Given the description of an element on the screen output the (x, y) to click on. 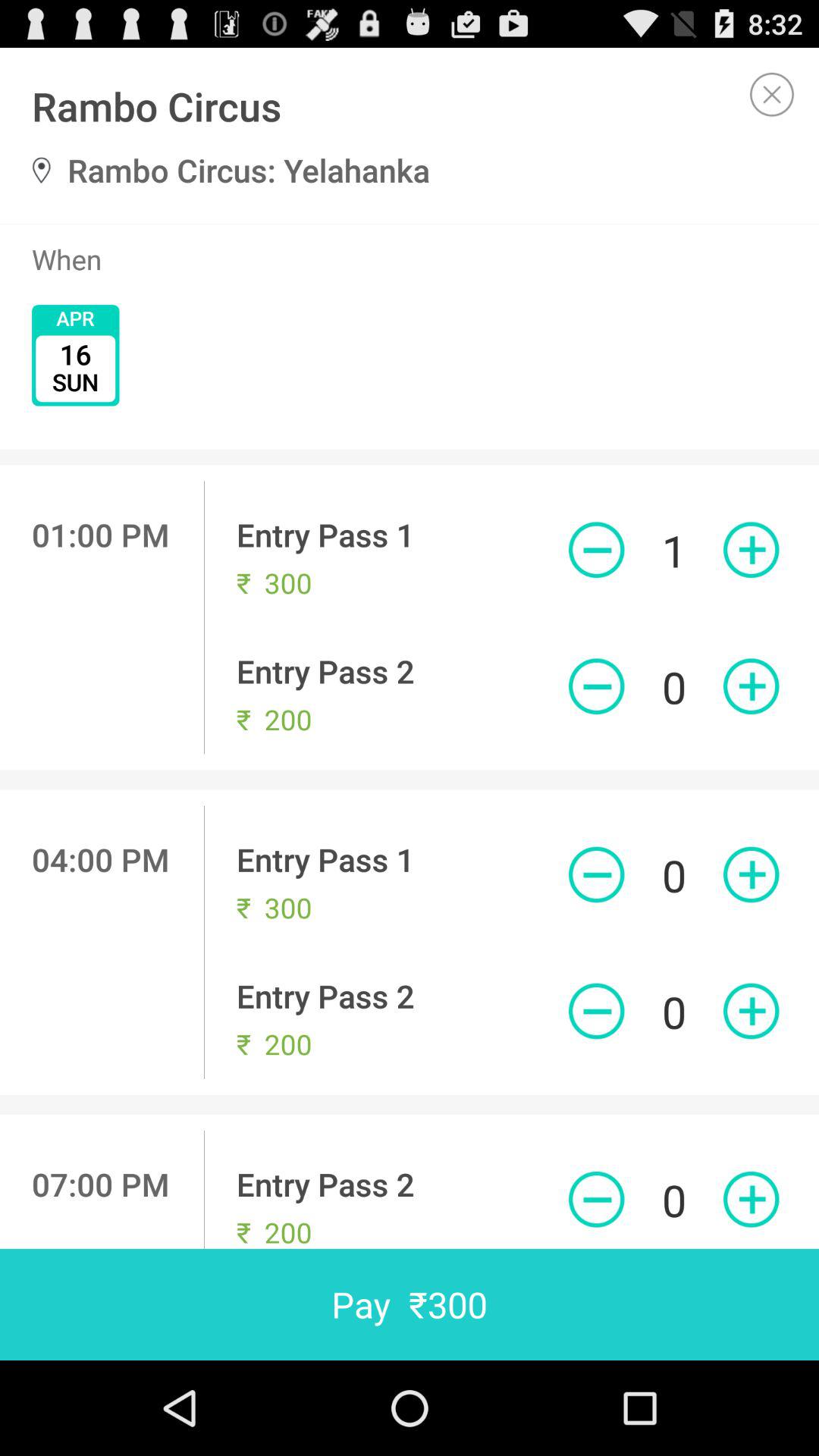
add one (751, 1199)
